Given the description of an element on the screen output the (x, y) to click on. 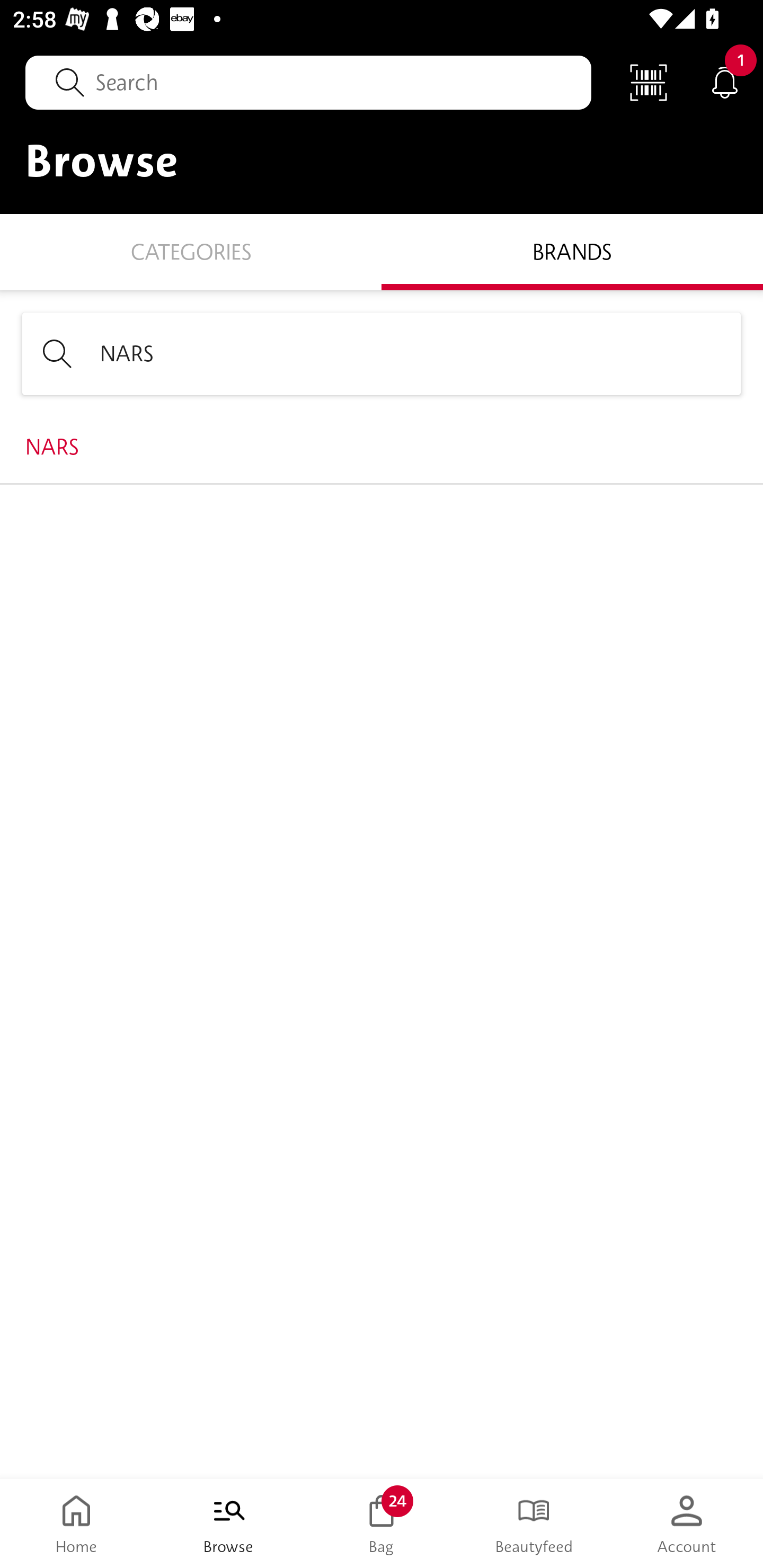
Scan Code (648, 81)
Notifications (724, 81)
Search (308, 81)
Categories CATEGORIES (190, 251)
NARS (381, 353)
NARS (381, 446)
Home (76, 1523)
Bag 24 Bag (381, 1523)
Beautyfeed (533, 1523)
Account (686, 1523)
